Given the description of an element on the screen output the (x, y) to click on. 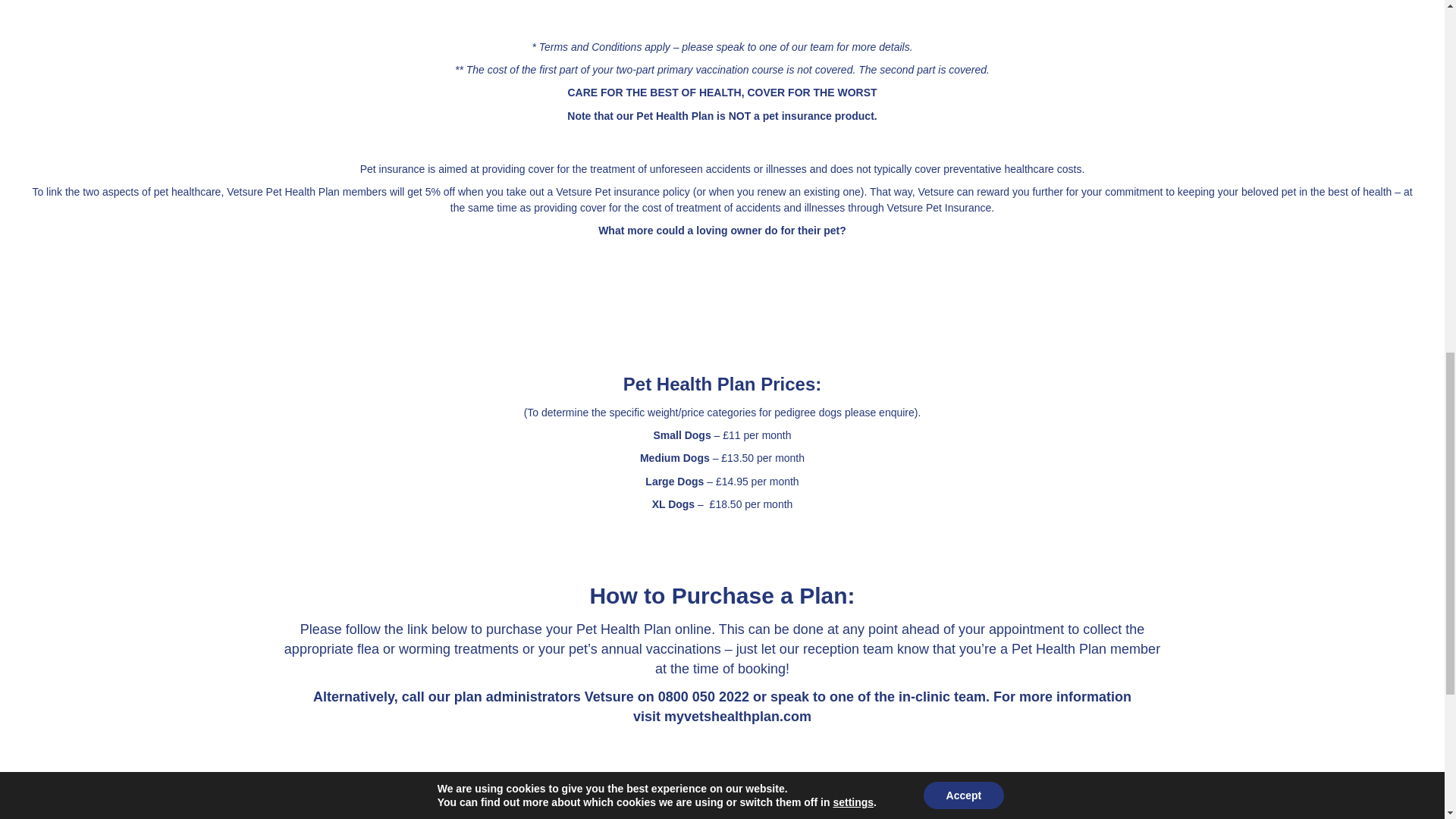
Pet insurance (392, 168)
button-test (721, 784)
Vetsure (609, 696)
myvetshealthplan.com (736, 716)
Vetsure Pet insurance policy (623, 191)
0800 050 2022 (703, 696)
Pet-Health-Plan-Prices (722, 323)
